Given the description of an element on the screen output the (x, y) to click on. 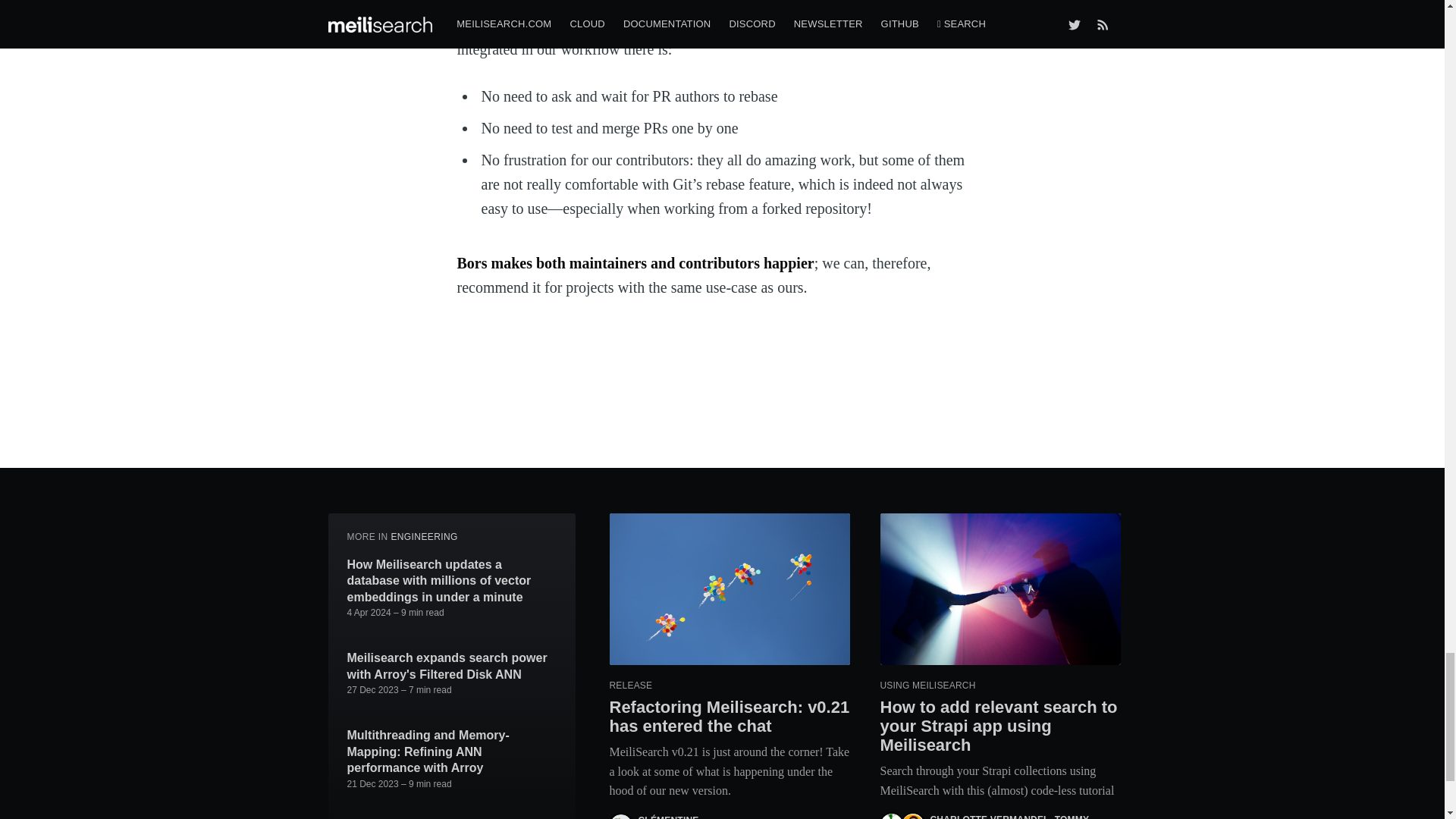
ENGINEERING (423, 536)
CHARLOTTE VERMANDEL (989, 816)
TOMMY MELVIN (1008, 816)
